Given the description of an element on the screen output the (x, y) to click on. 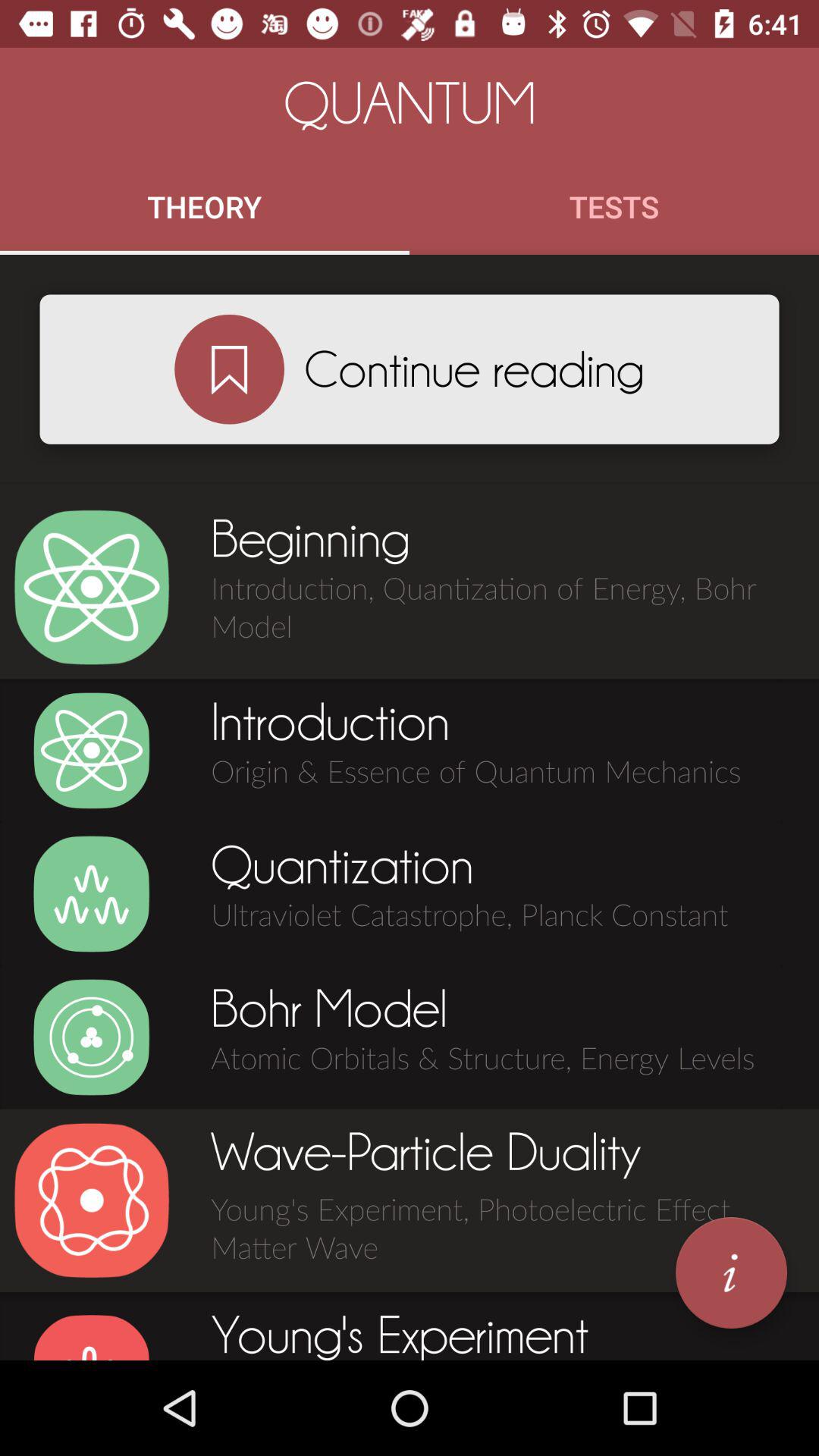
select the young 's experiment (91, 1336)
